Given the description of an element on the screen output the (x, y) to click on. 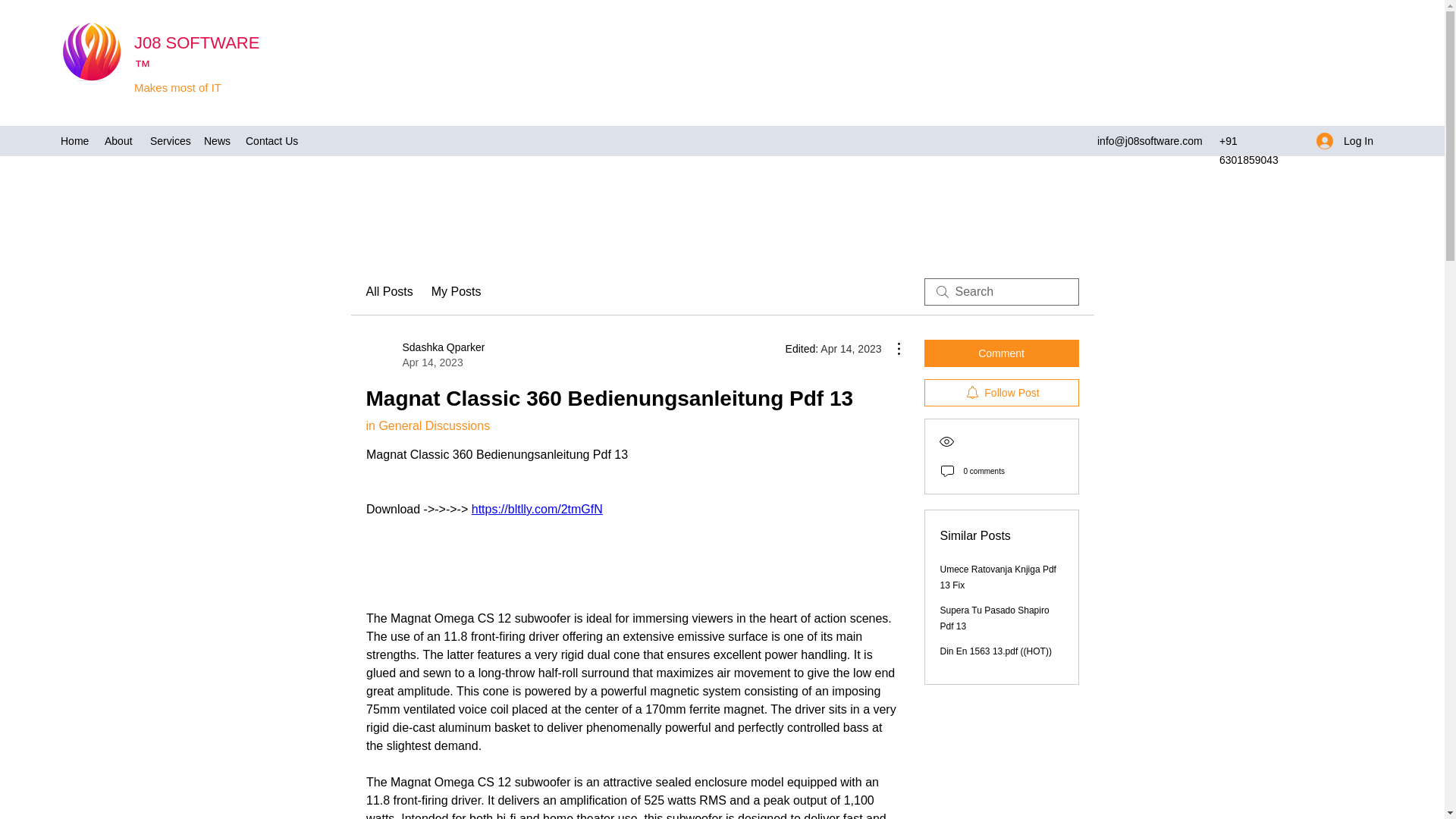
All Posts (388, 291)
About (119, 140)
Log In (1345, 141)
My Posts (455, 291)
Services (169, 140)
Home (74, 140)
Contact Us (271, 140)
in General Discussions (427, 425)
News (424, 354)
